Given the description of an element on the screen output the (x, y) to click on. 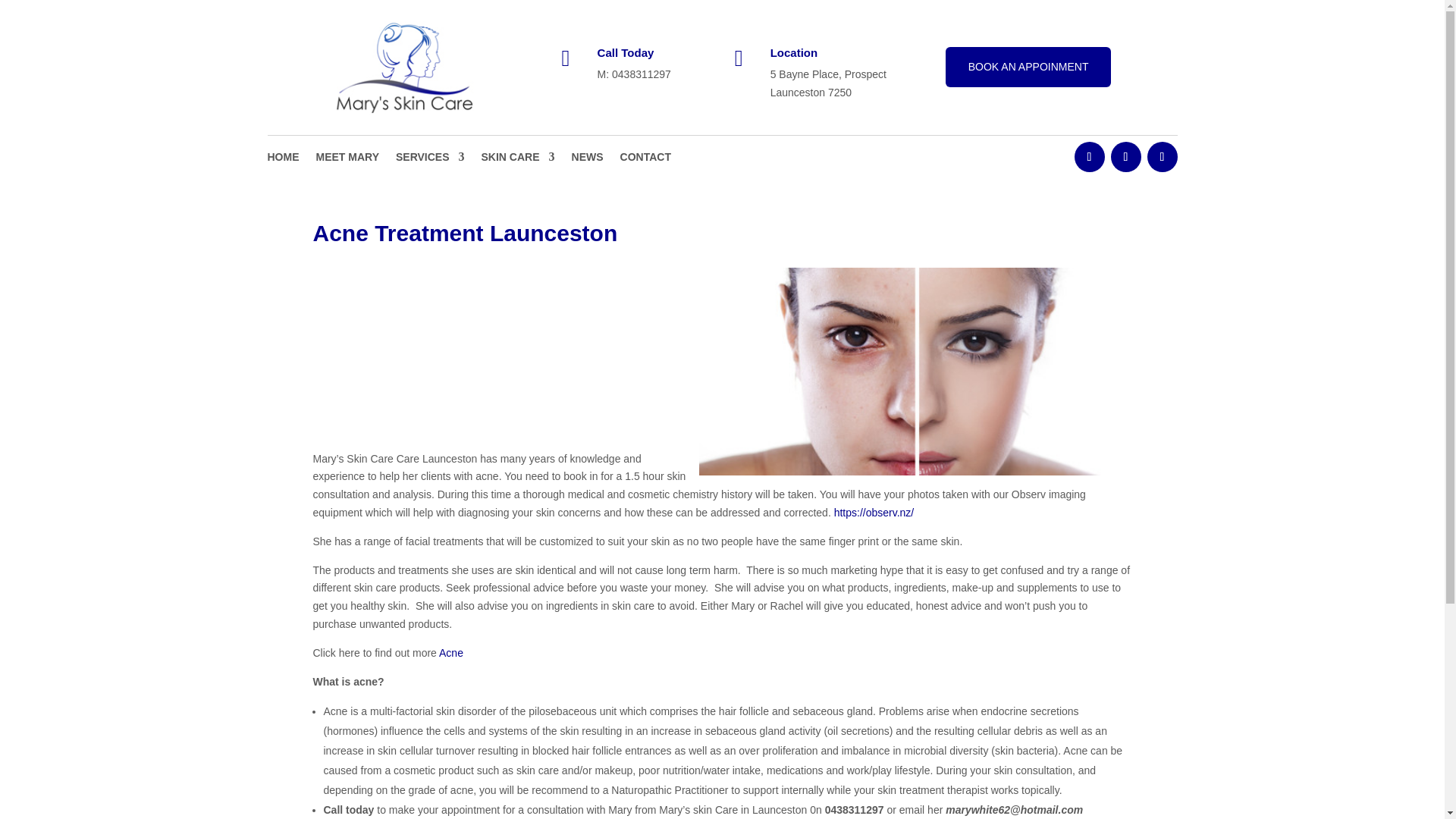
HOME (282, 159)
CONTACT (645, 159)
Acne (451, 653)
Follow on Facebook (1088, 156)
MEET MARY (346, 159)
Follow on Instagram (1161, 156)
NEWS (588, 159)
SKIN CARE (517, 159)
BOOK AN APPOINMENT (1028, 66)
Follow on LinkedIn (1124, 156)
